Given the description of an element on the screen output the (x, y) to click on. 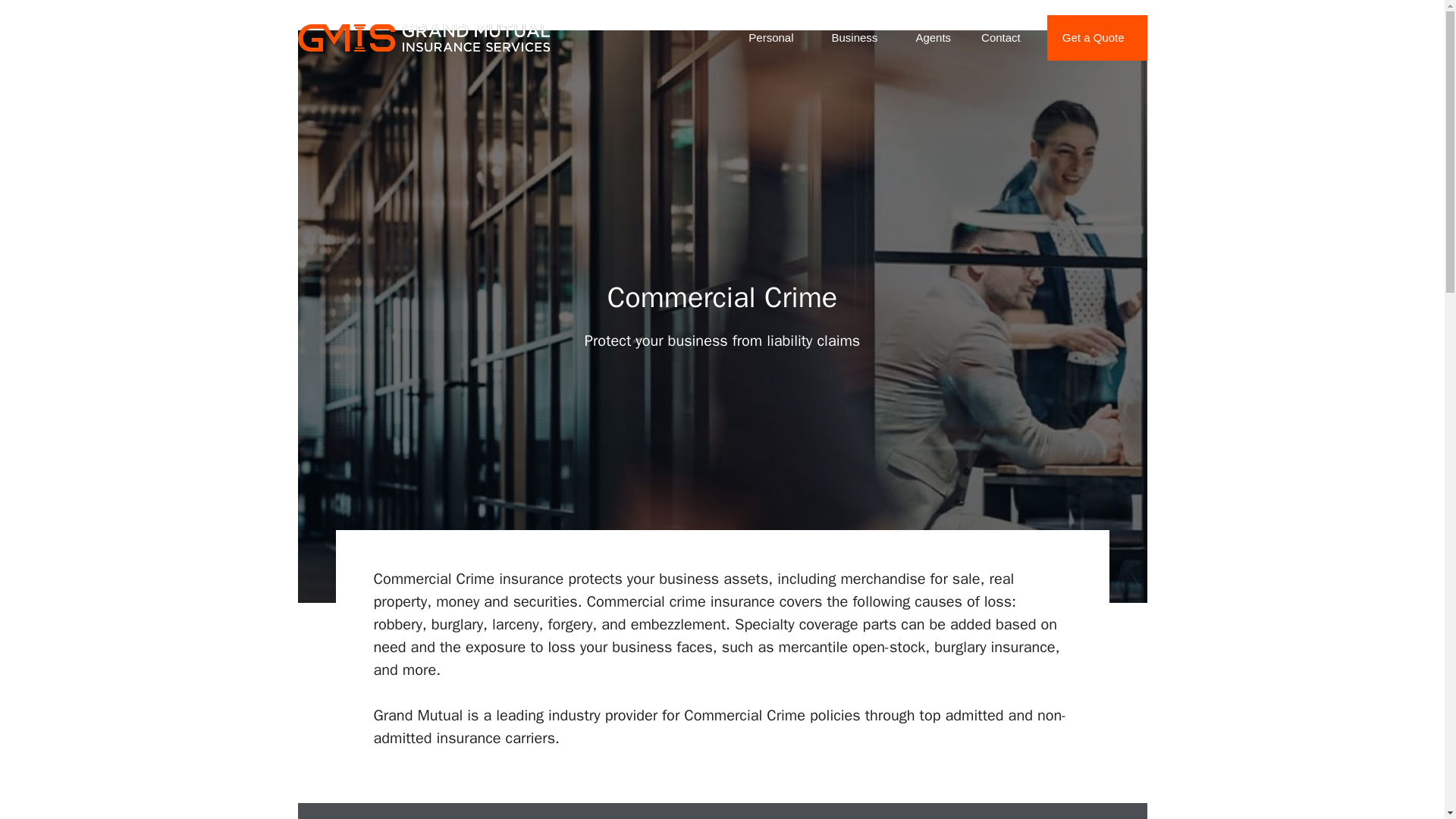
Get a Quote (1096, 37)
Agents (932, 37)
Business (857, 37)
Contact (1000, 37)
Personal (774, 37)
